Given the description of an element on the screen output the (x, y) to click on. 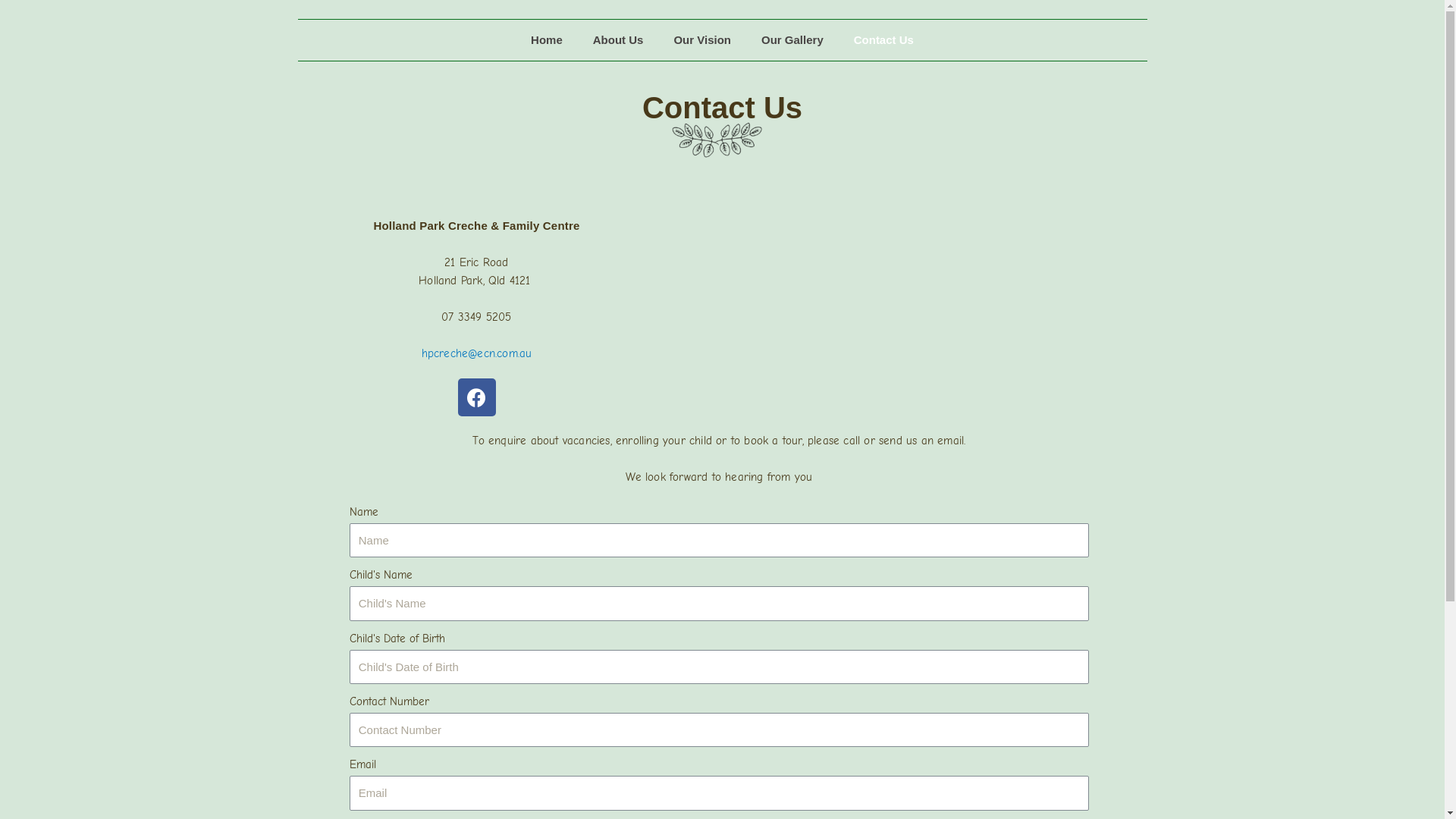
21 Eric Rd Holland Park, QLD 4121 Element type: hover (906, 290)
Our Gallery Element type: text (792, 39)
hpcreche@ecn.com.au Element type: text (476, 353)
Home Element type: text (546, 39)
Contact Us Element type: text (883, 39)
About Us Element type: text (617, 39)
Our Vision Element type: text (702, 39)
